Given the description of an element on the screen output the (x, y) to click on. 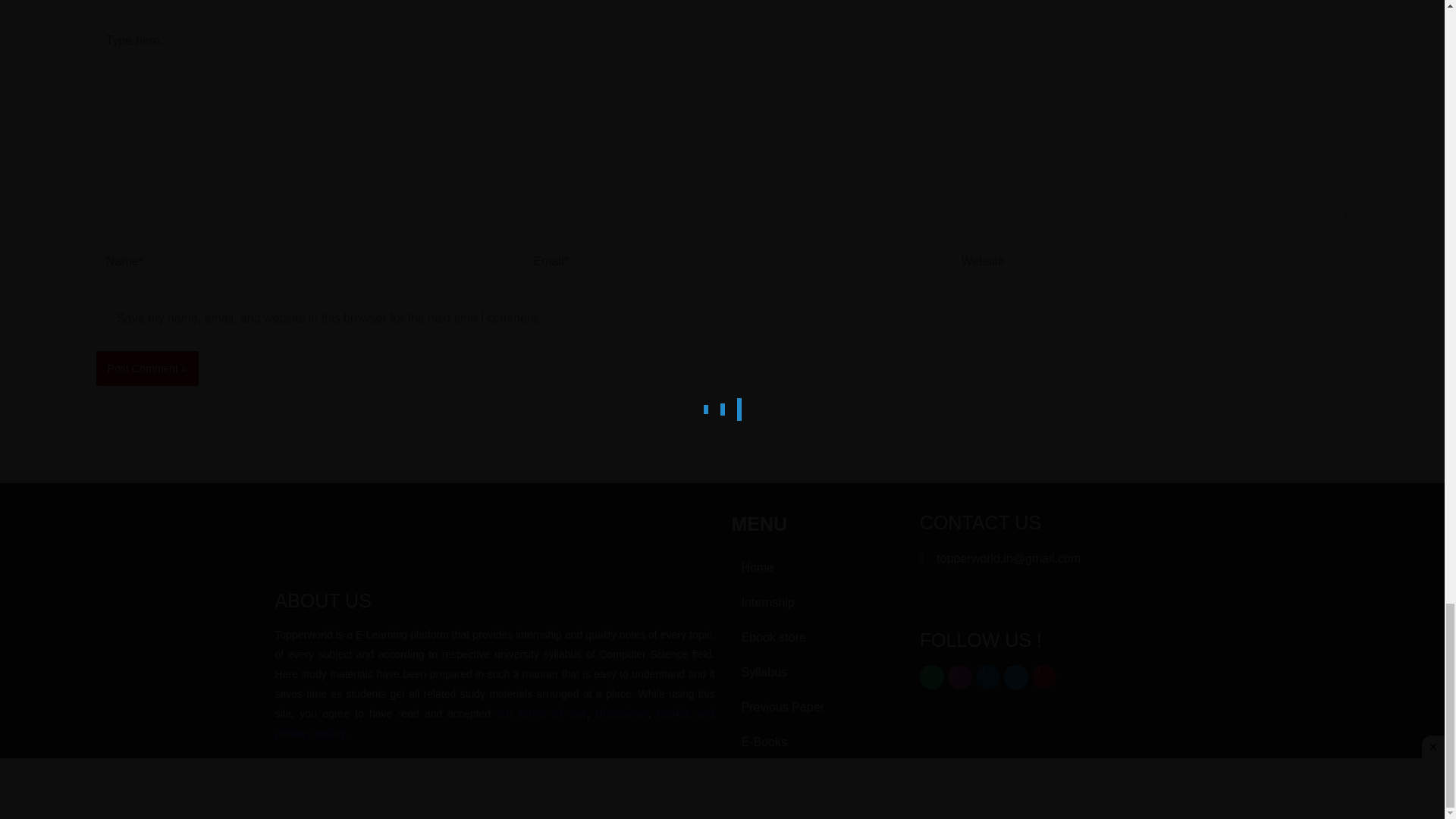
yes (101, 317)
